Given the description of an element on the screen output the (x, y) to click on. 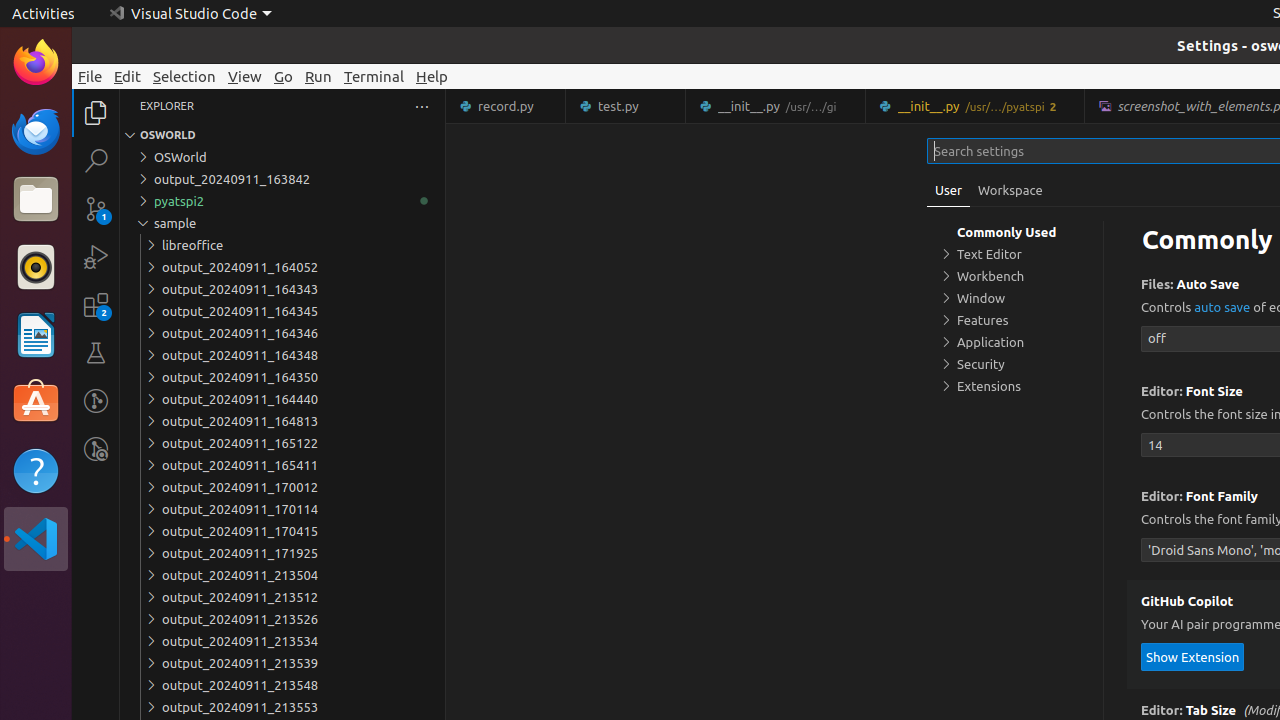
pyatspi2 Element type: tree-item (282, 201)
output_20240911_213526 Element type: tree-item (282, 619)
Explorer Section: osworld Element type: push-button (282, 135)
Window, group Element type: tree-item (1015, 298)
OSWorld Element type: tree-item (282, 157)
